Given the description of an element on the screen output the (x, y) to click on. 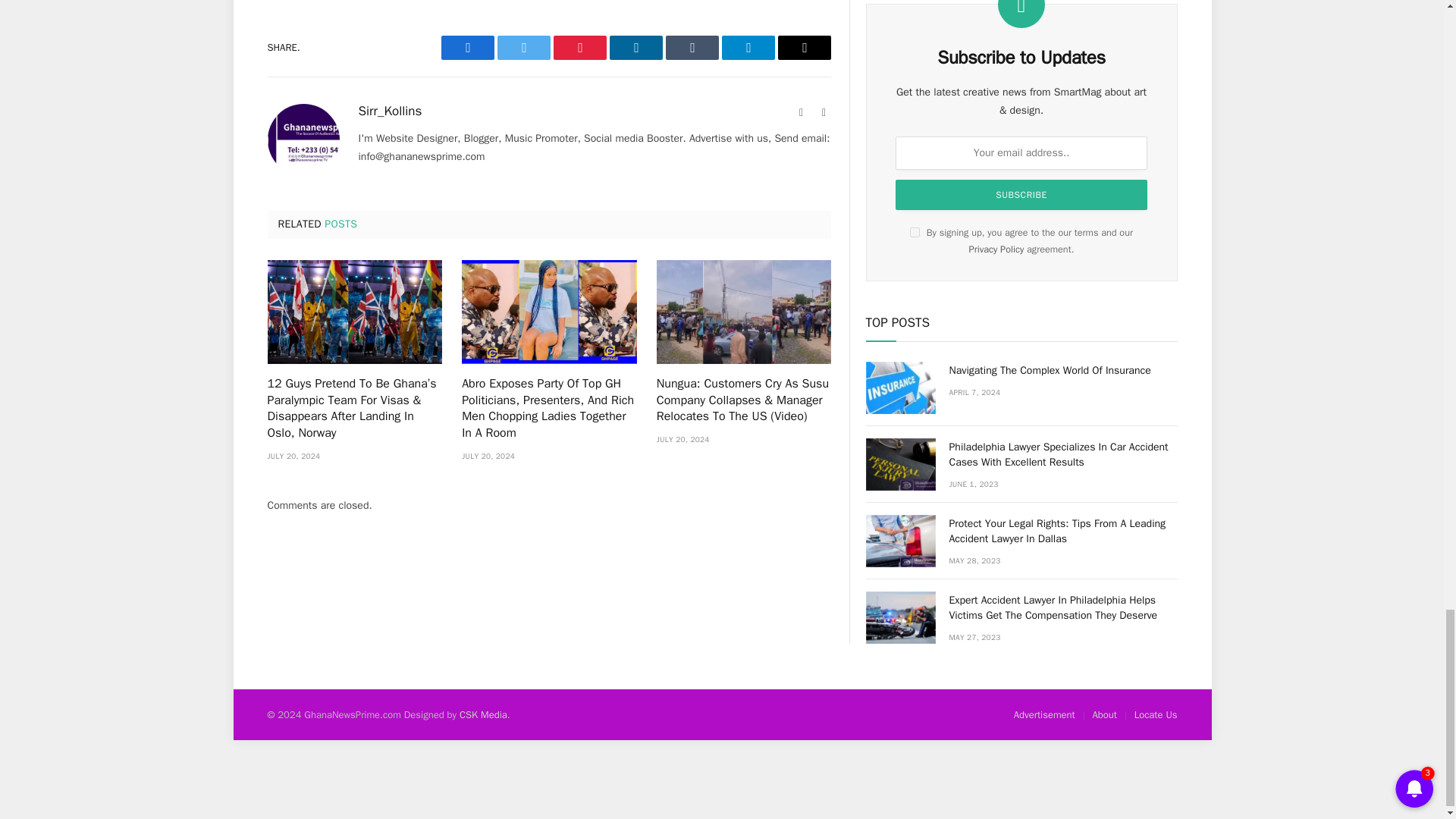
on (915, 198)
Subscribe (1021, 160)
